Given the description of an element on the screen output the (x, y) to click on. 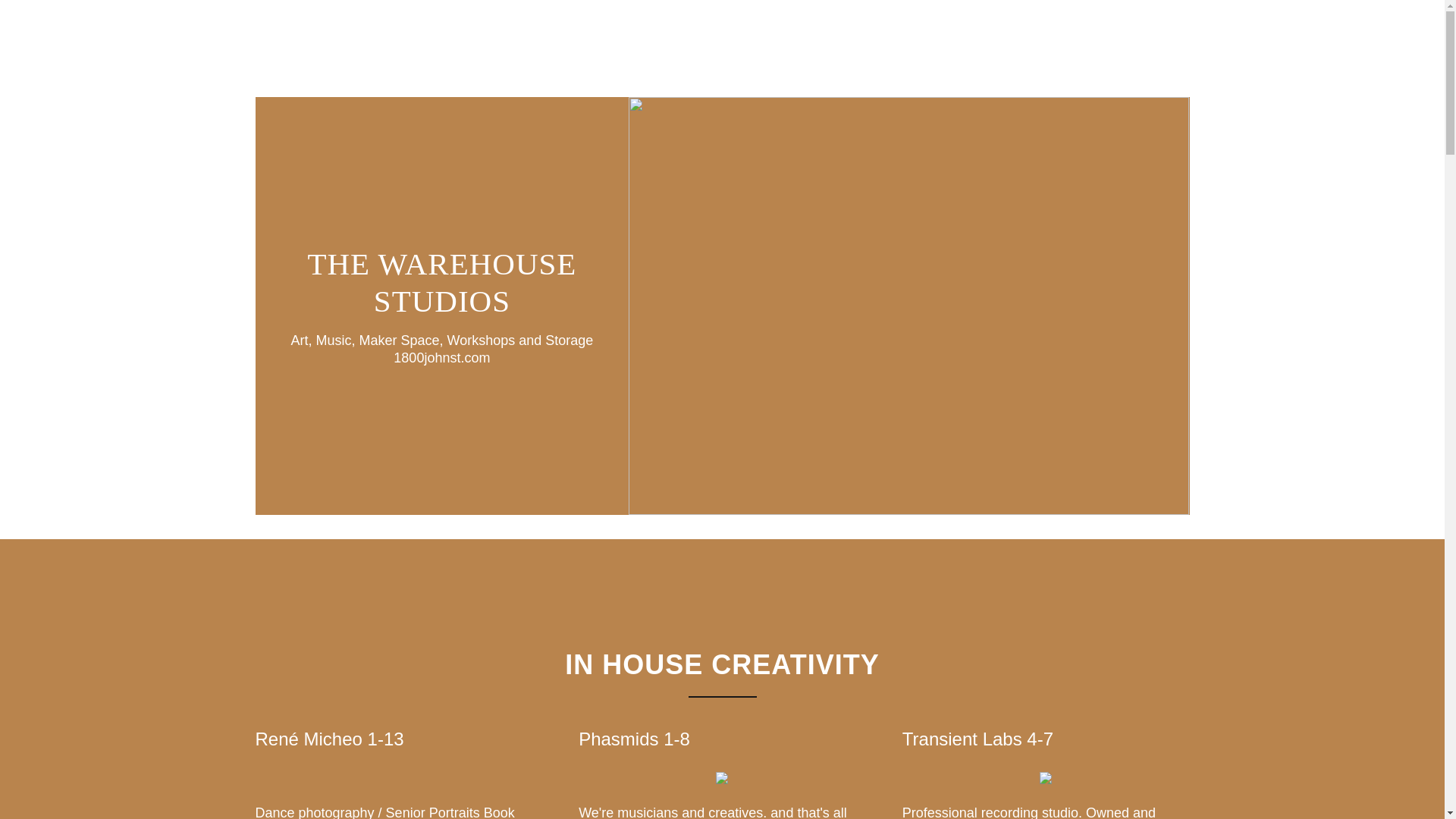
THE WAREHOUSE STUDIOS Element type: text (441, 306)
